Given the description of an element on the screen output the (x, y) to click on. 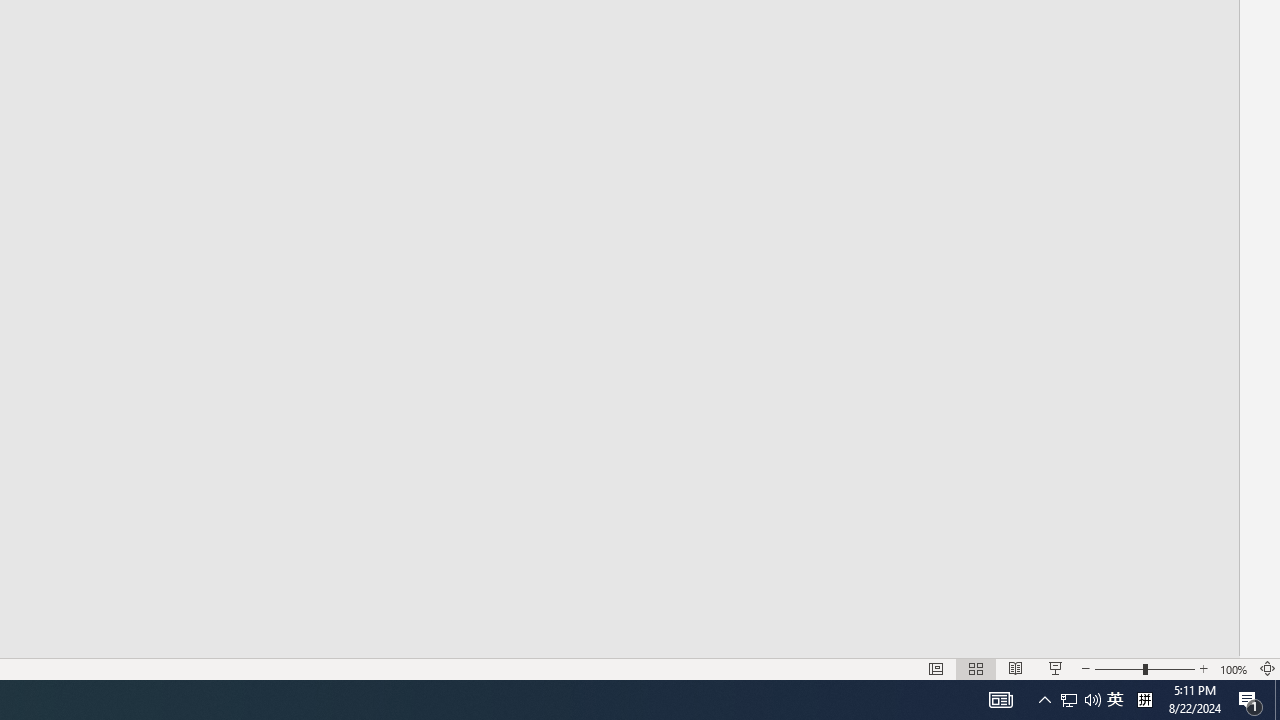
Zoom 100% (1234, 668)
